Given the description of an element on the screen output the (x, y) to click on. 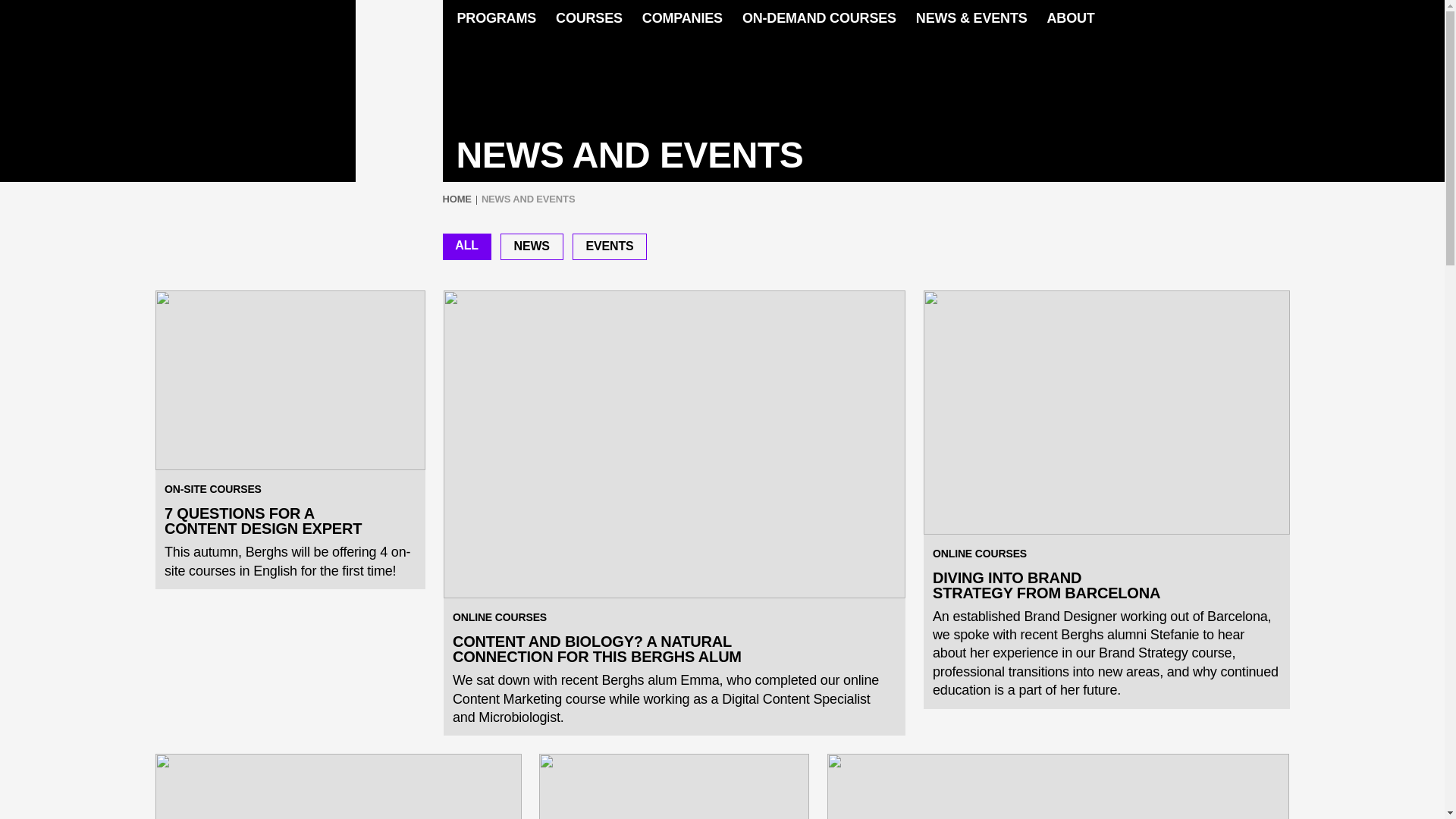
HOME (456, 199)
COURSES (588, 18)
NEWS (531, 246)
ABOUT (1070, 18)
ON-DEMAND COURSES (818, 18)
EVENTS (609, 246)
COMPANIES (681, 18)
PROGRAMS (494, 18)
